Given the description of an element on the screen output the (x, y) to click on. 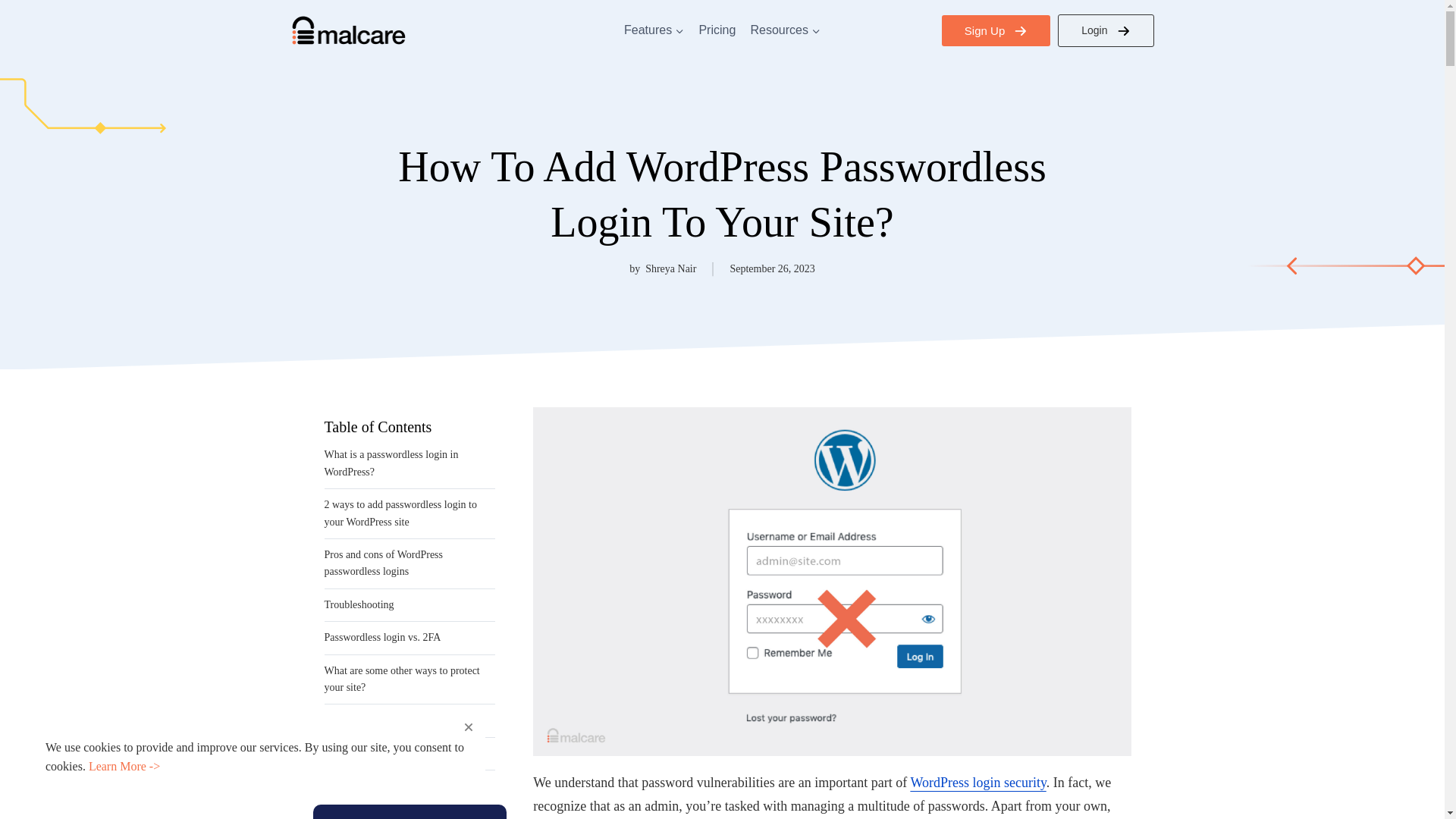
Pricing (716, 29)
Resources (785, 29)
Features (652, 29)
